Given the description of an element on the screen output the (x, y) to click on. 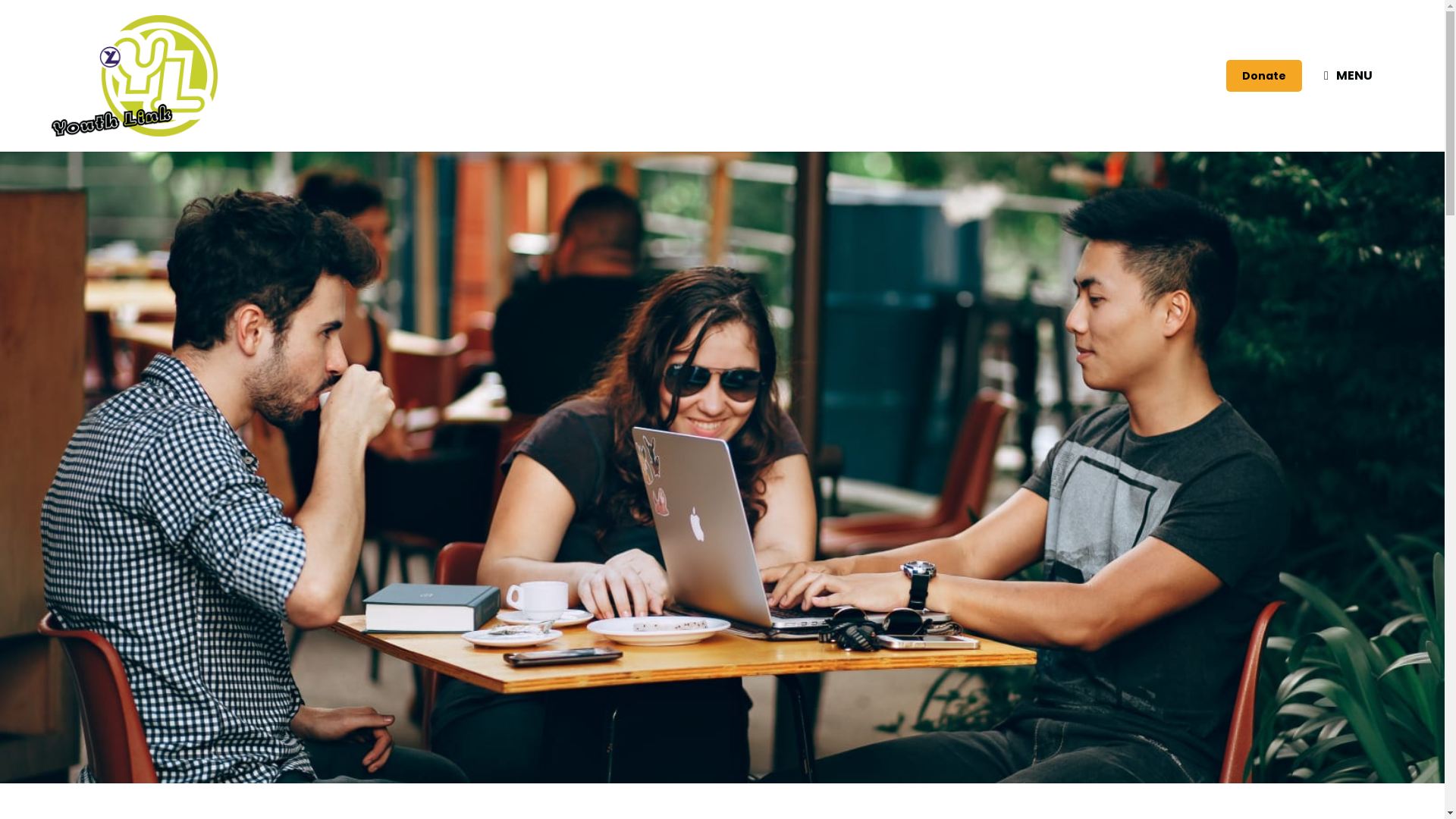
MENU Element type: text (1348, 75)
Donate Element type: text (1264, 75)
Youth Service Providers Element type: text (134, 75)
